Given the description of an element on the screen output the (x, y) to click on. 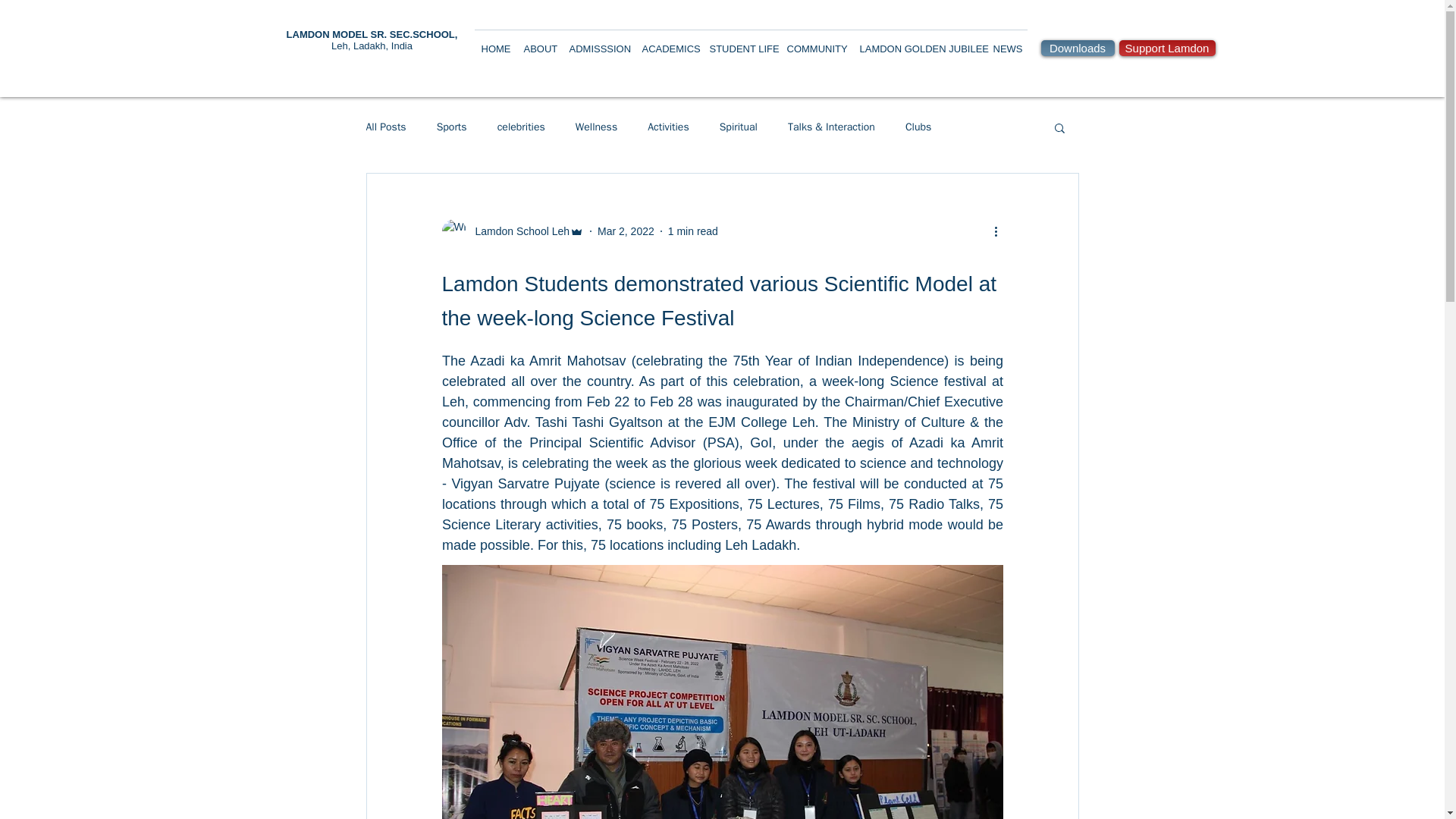
ADMISSSION (598, 41)
ACADEMICS (668, 41)
COMMUNITY (816, 41)
1 min read (692, 230)
STUDENT LIFE (741, 41)
ABOUT (539, 41)
Mar 2, 2022 (624, 230)
Lamdon School Leh (517, 230)
HOME (496, 41)
